Given the description of an element on the screen output the (x, y) to click on. 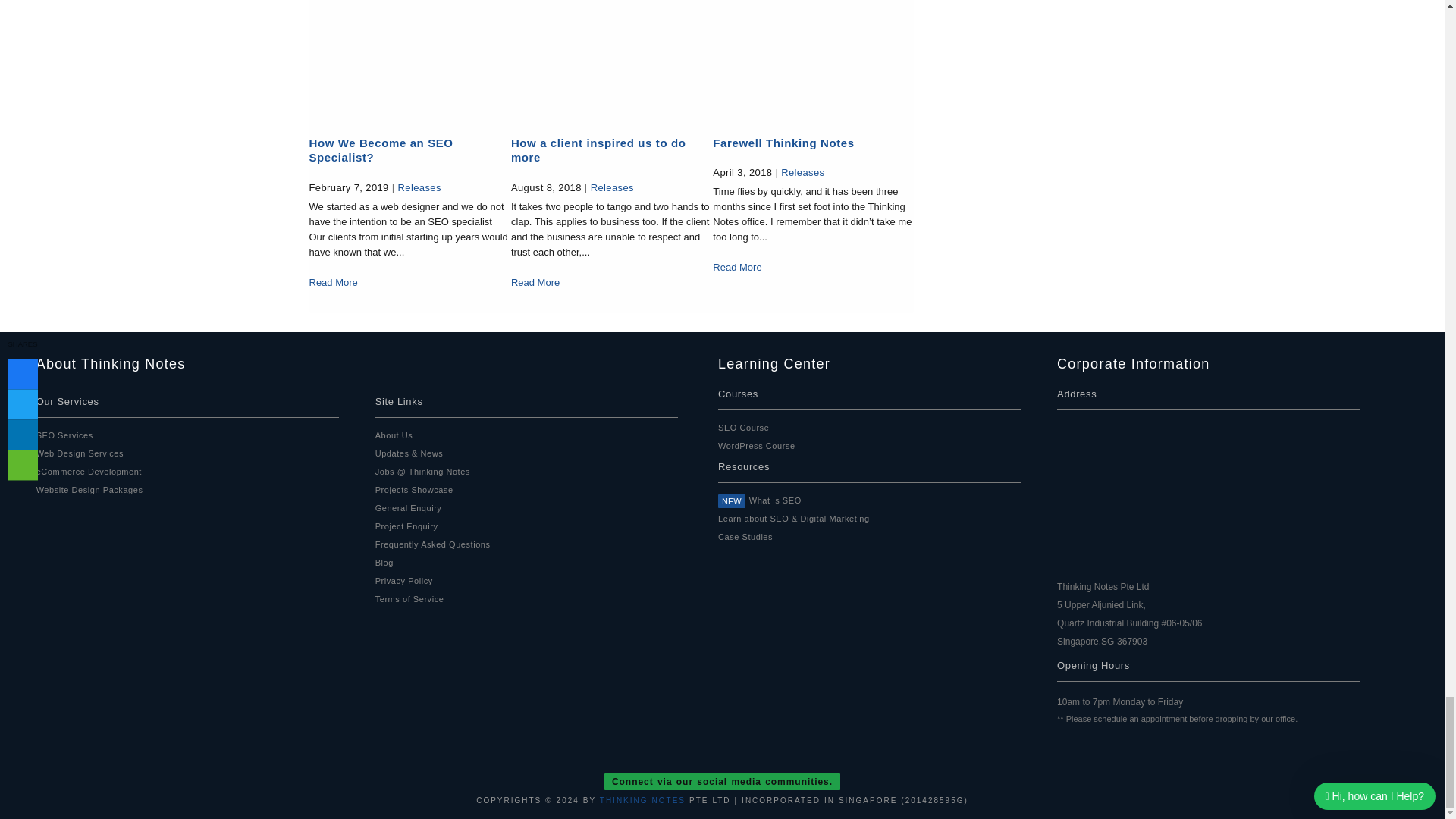
Farewell Thinking Notes 14 (812, 59)
Wednesday, August 8, 2018, 7:43 am (545, 187)
How We Become an SEO Specialist? 8 (408, 59)
How a client inspired us to do more 11 (610, 59)
Thursday, February 7, 2019, 3:27 pm (348, 187)
